Given the description of an element on the screen output the (x, y) to click on. 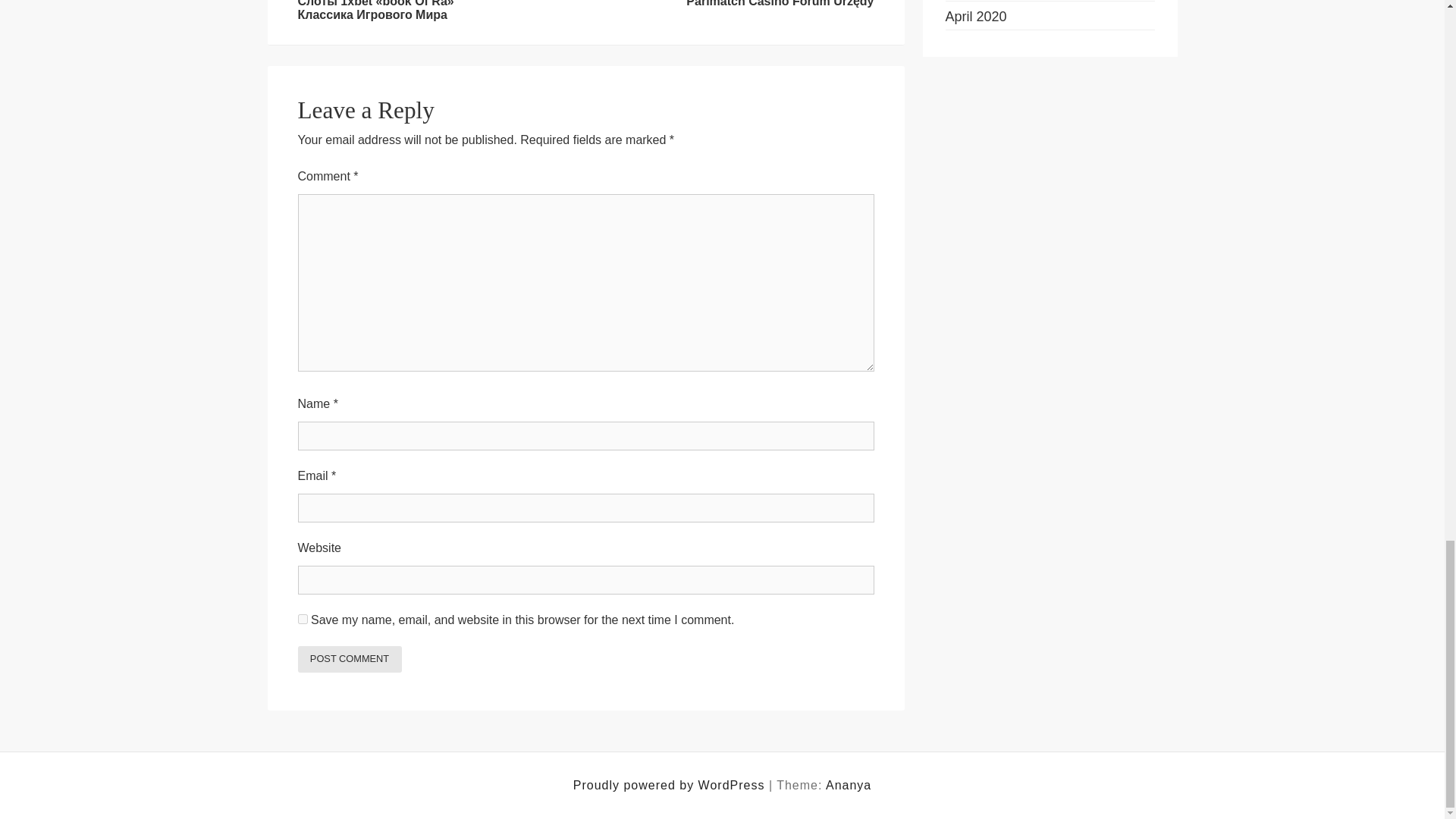
Post Comment (349, 659)
yes (302, 619)
Post Comment (349, 659)
